Given the description of an element on the screen output the (x, y) to click on. 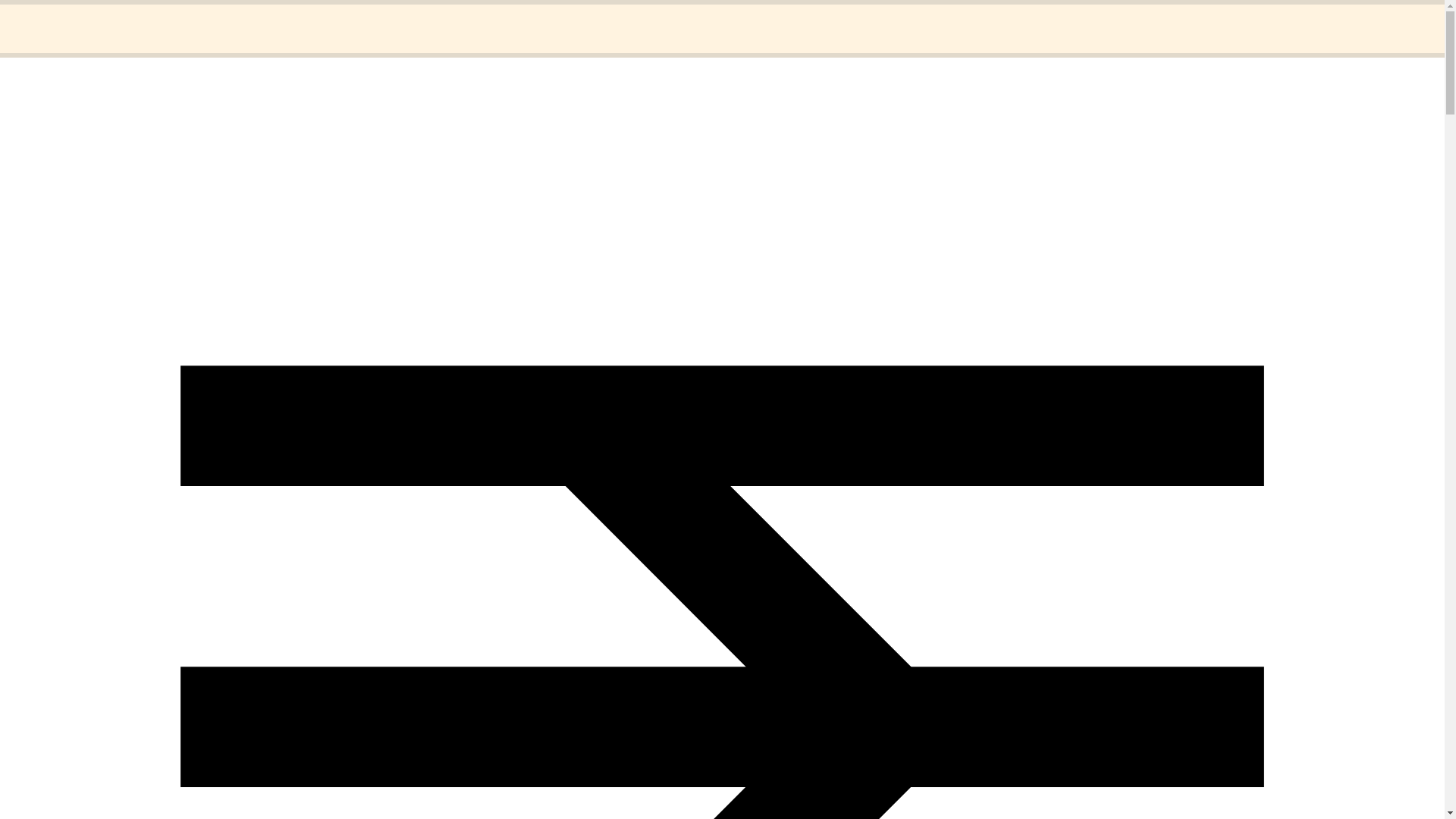
Home (50, 18)
